Given the description of an element on the screen output the (x, y) to click on. 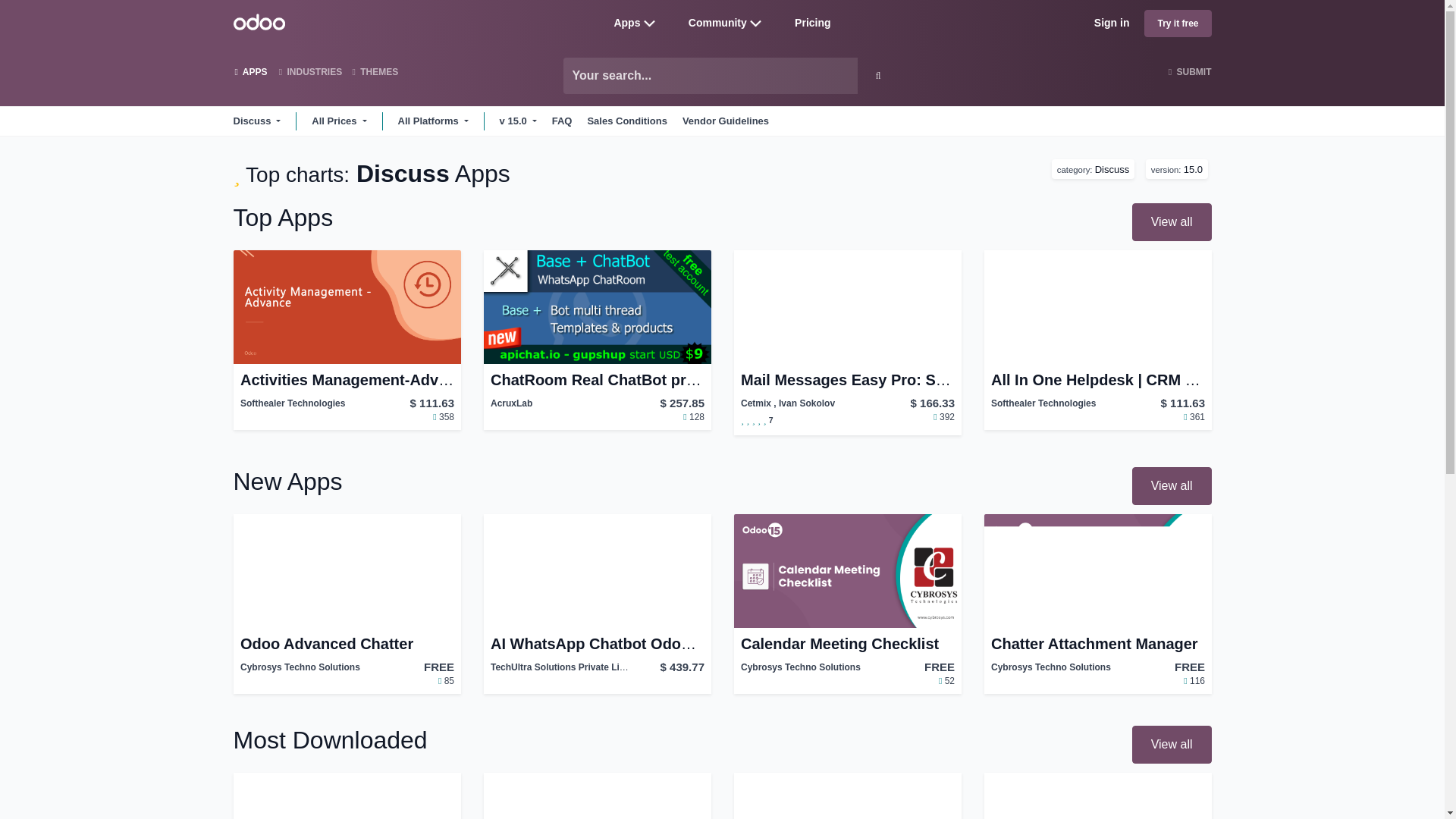
Total Downloads: 85, Last month: 12 (440, 680)
Activities Management-Advance (346, 380)
Total Downloads: 52, Last month: 3 (941, 680)
Calendar Meeting Checklist (846, 643)
Total Purchases: 128, Last month: 5 (689, 416)
Chatter Attachment Manager (1097, 643)
Odoo (258, 21)
Apps (626, 22)
Sign in (1111, 22)
